Given the description of an element on the screen output the (x, y) to click on. 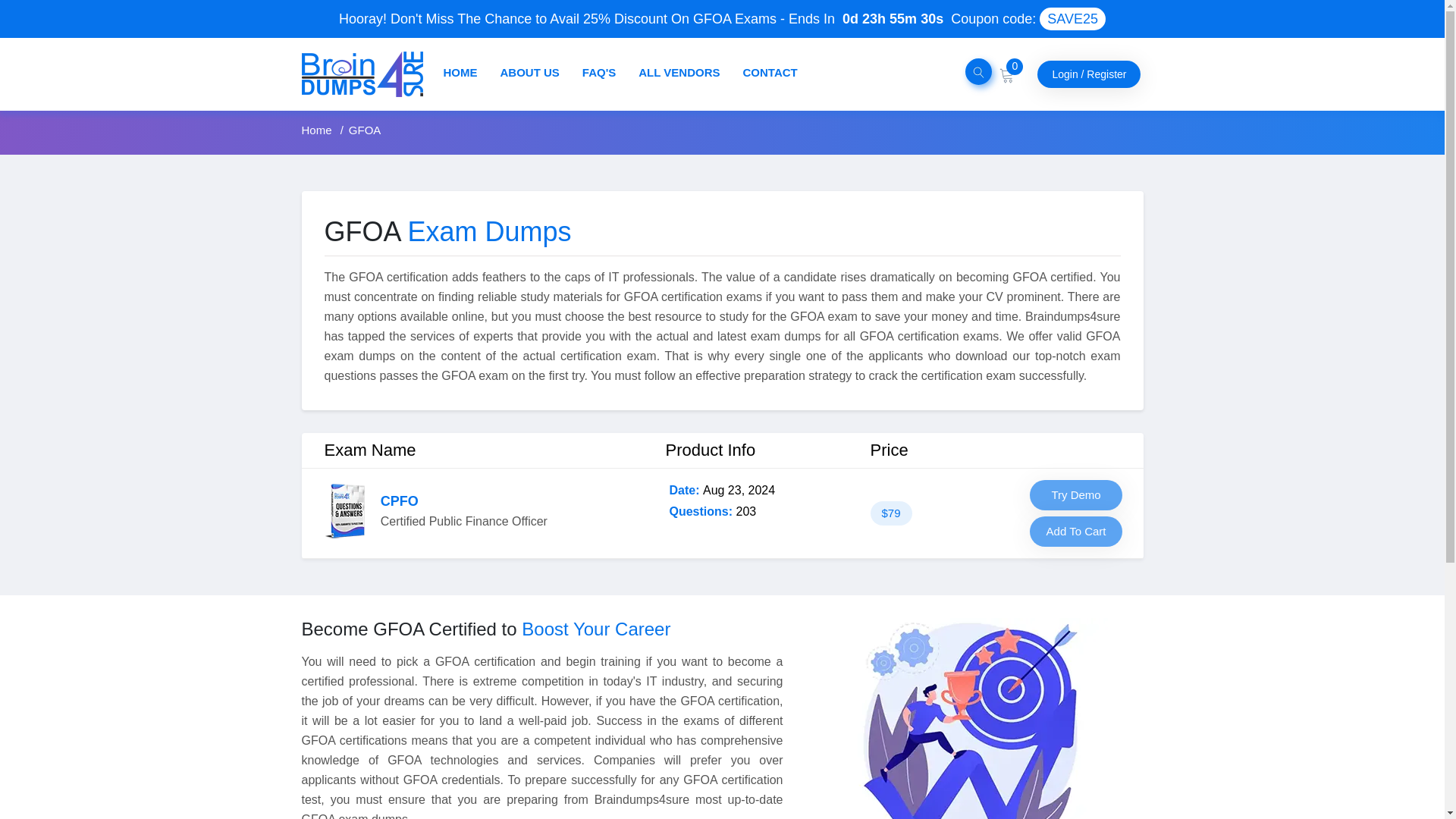
ABOUT US (529, 72)
HOME (459, 72)
CONTACT (769, 72)
0 (1006, 72)
Certified Public Finance Officer (399, 500)
Try Demo (1075, 494)
Try Demo (1075, 494)
CPFO (399, 500)
Home (317, 129)
FAQ'S (598, 72)
